Given the description of an element on the screen output the (x, y) to click on. 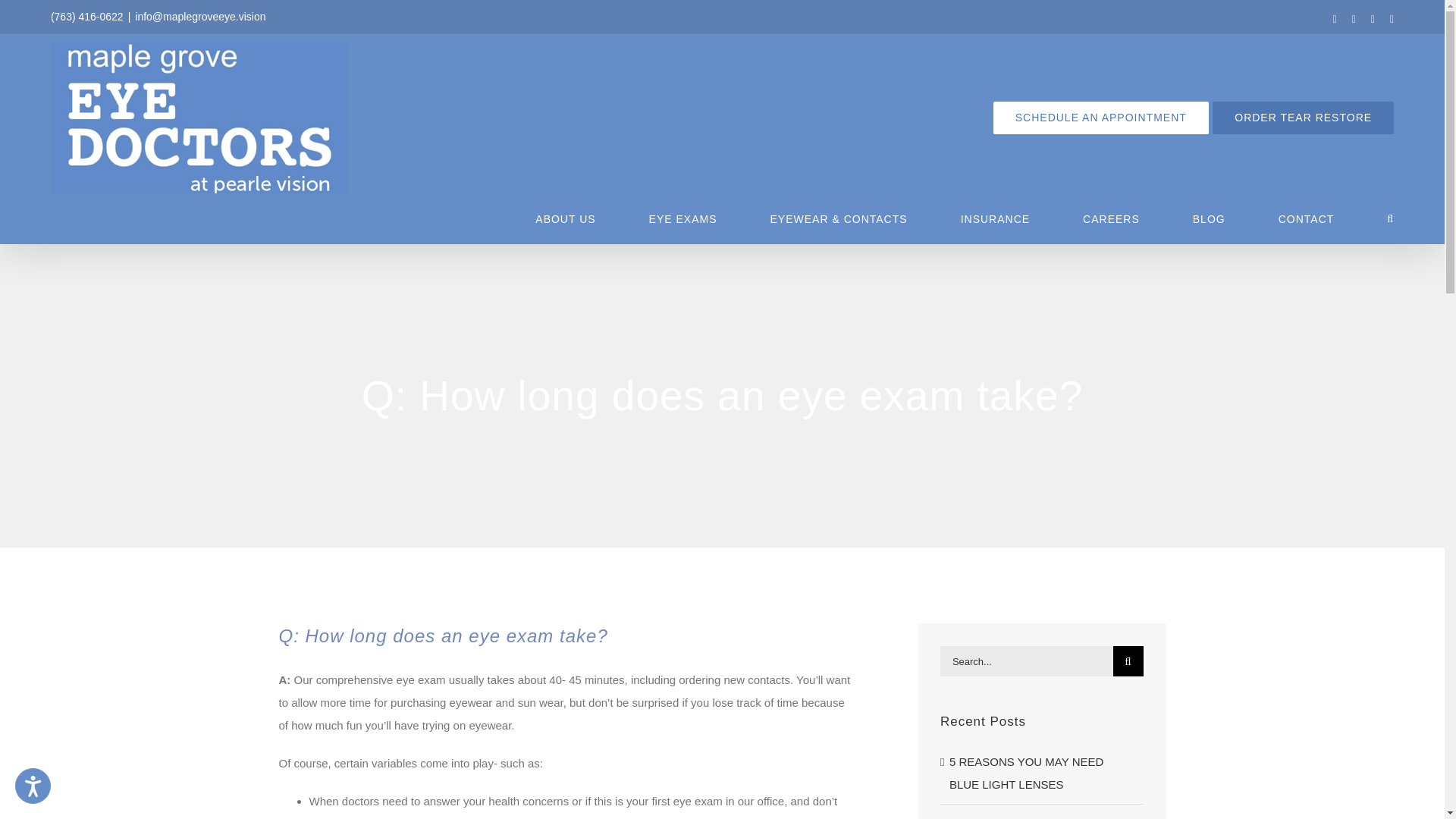
EYE EXAMS (683, 218)
INSURANCE (994, 218)
Open Accessibility Menu (32, 785)
opens in a new tab (1302, 117)
ABOUT US (565, 218)
opens in a new tab (1100, 117)
SCHEDULE AN APPOINTMENT (1100, 117)
CAREERS (1111, 218)
ORDER TEAR RESTORE (1302, 117)
CONTACT (1306, 218)
